Given the description of an element on the screen output the (x, y) to click on. 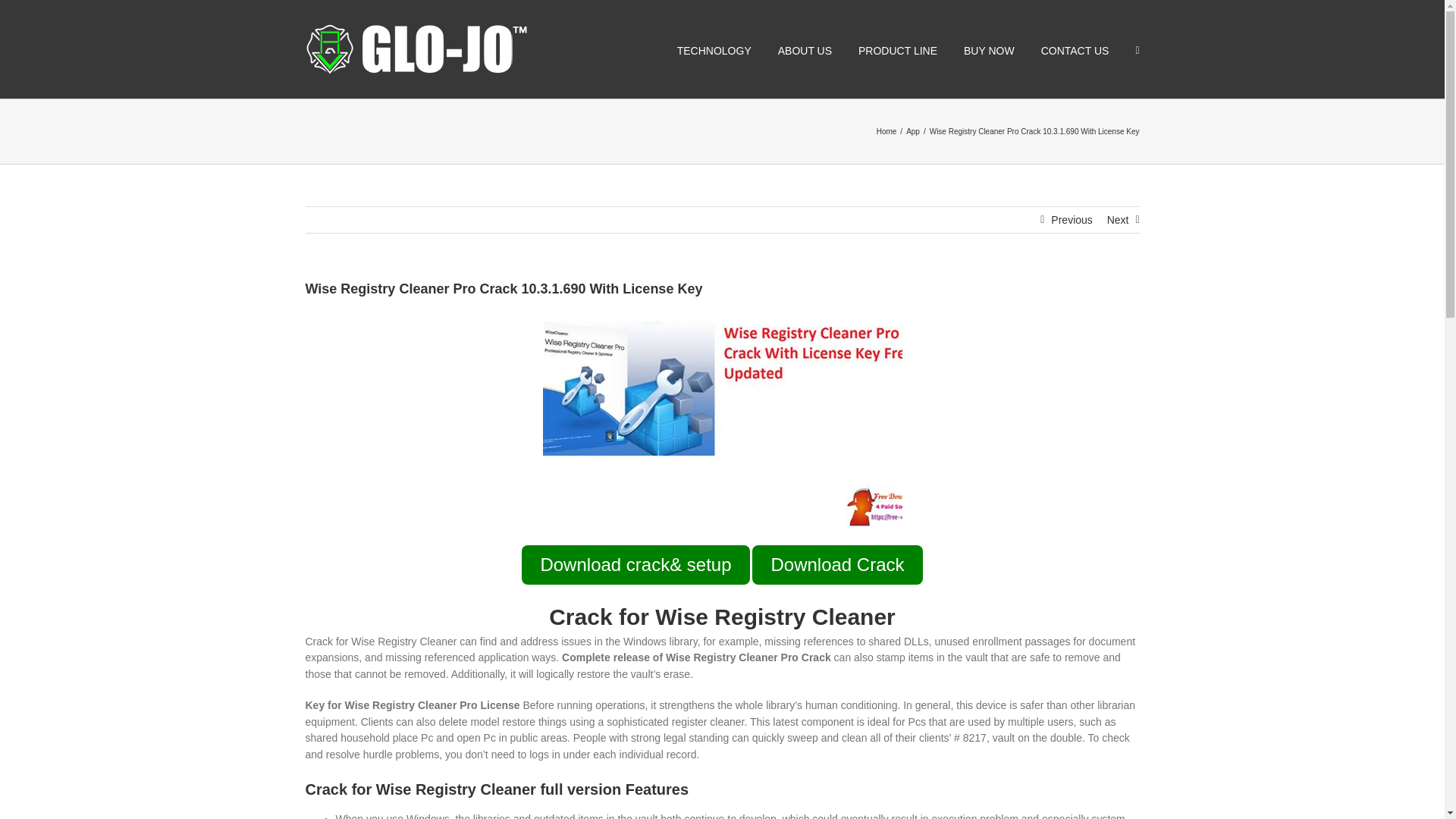
Download Crack (836, 564)
App (912, 131)
Previous (1071, 219)
Home (886, 131)
